Given the description of an element on the screen output the (x, y) to click on. 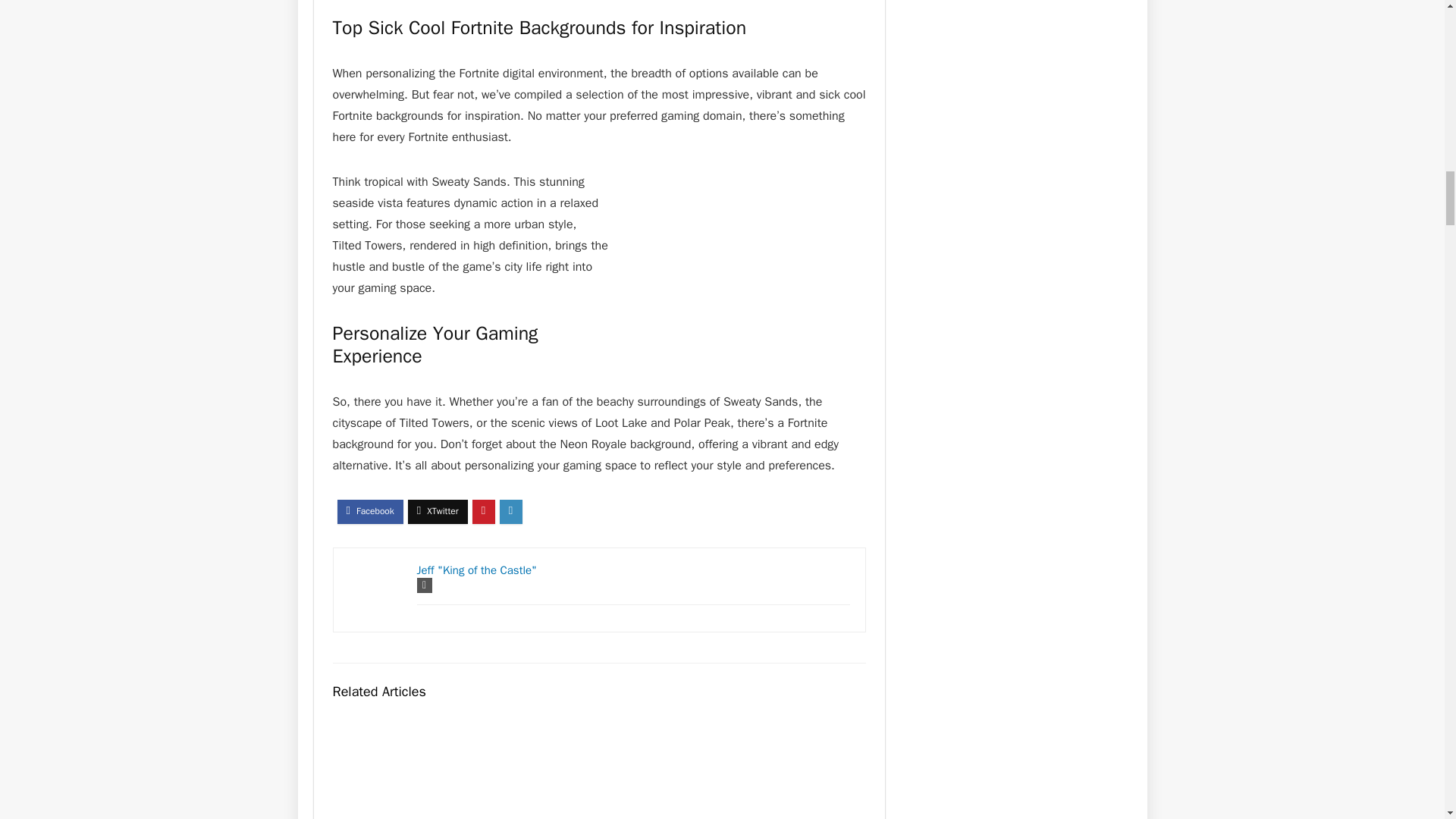
Jeff "King of the Castle" (476, 570)
